Given the description of an element on the screen output the (x, y) to click on. 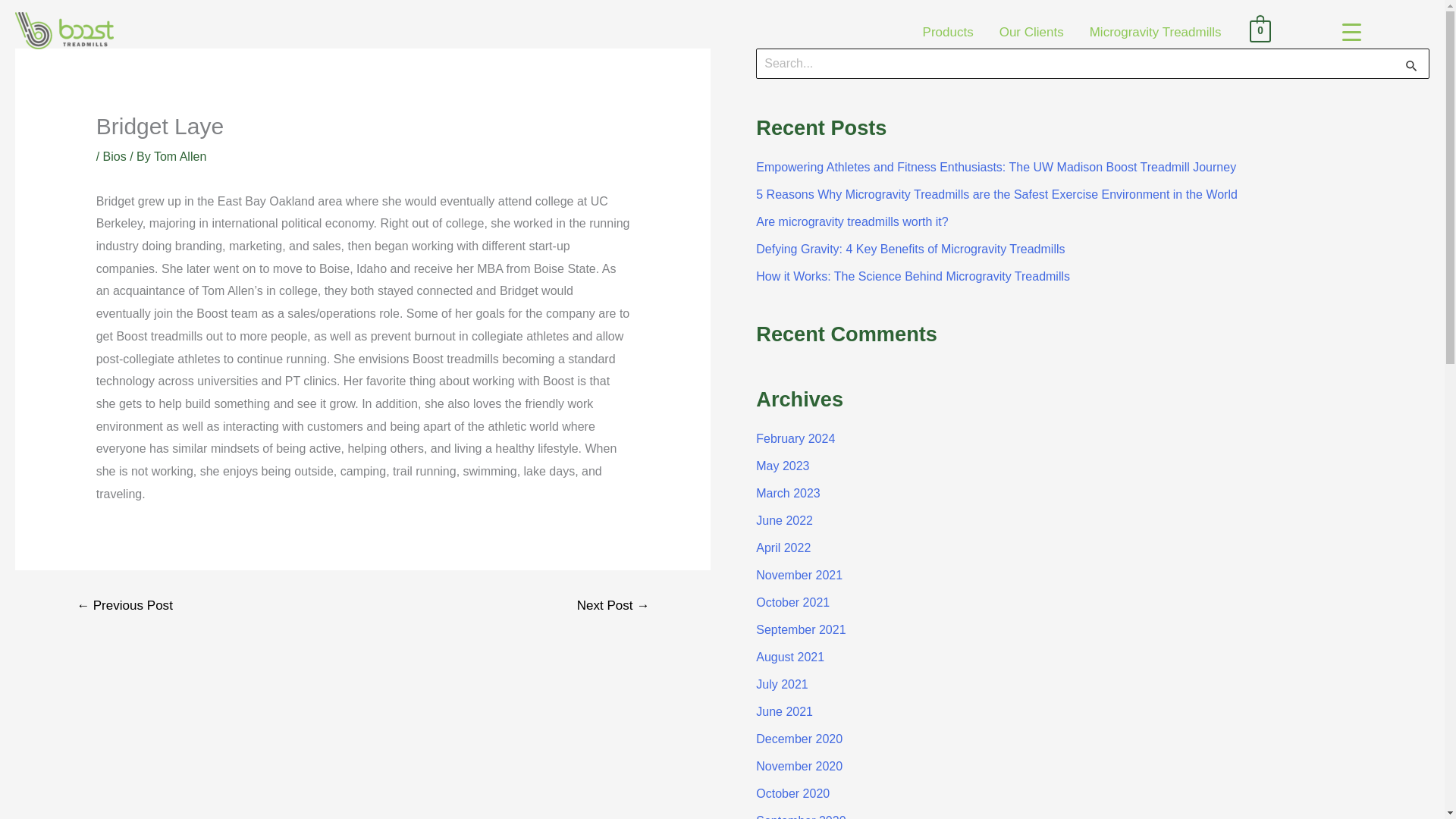
View all posts by Tom Allen (180, 155)
Tom Allen (180, 155)
Microgravity Treadmills (1155, 24)
Bios (114, 155)
Products (948, 24)
Our Clients (1032, 24)
0 (1260, 24)
